Given the description of an element on the screen output the (x, y) to click on. 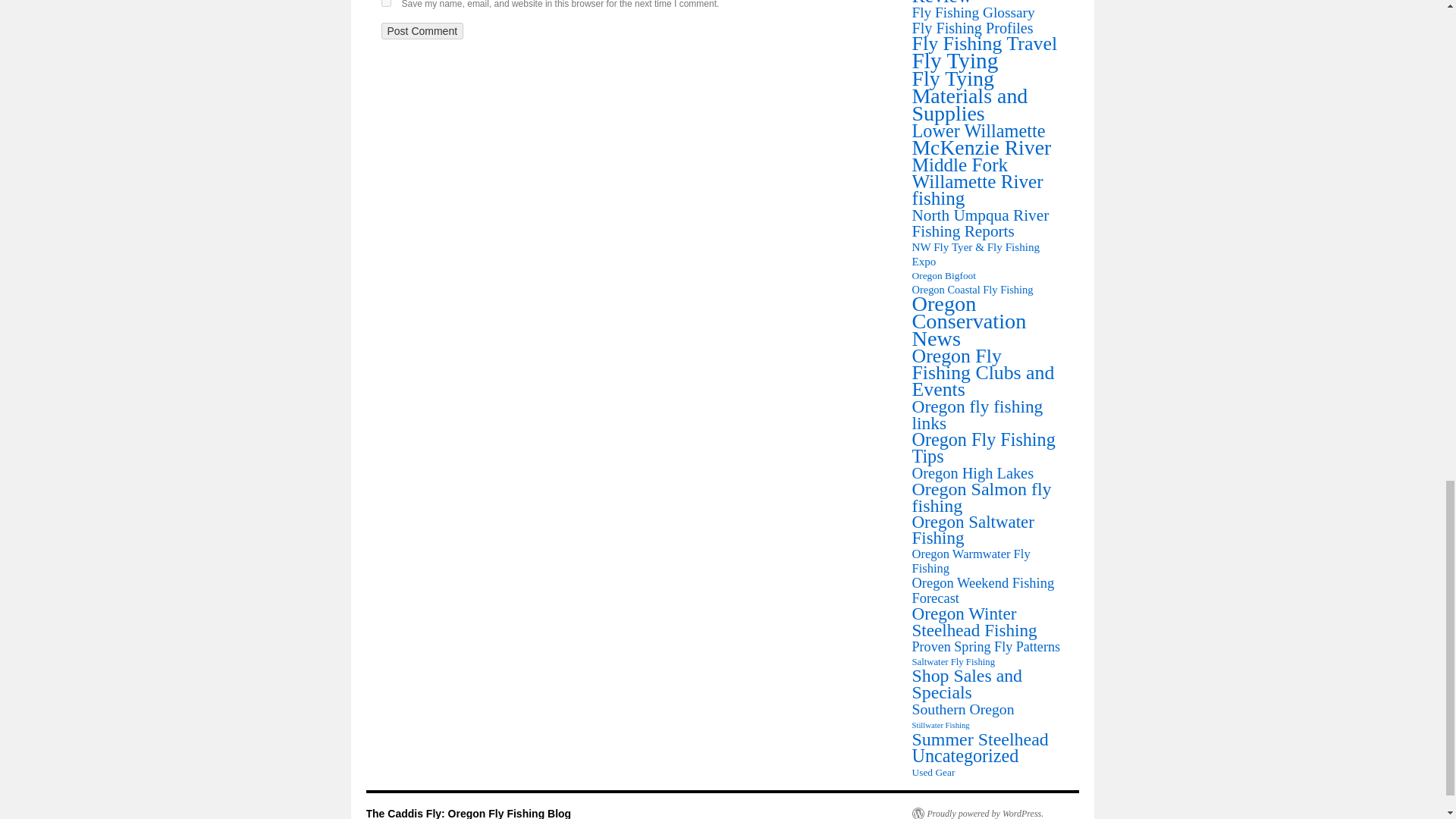
Post Comment (421, 30)
Post Comment (421, 30)
yes (385, 3)
